Given the description of an element on the screen output the (x, y) to click on. 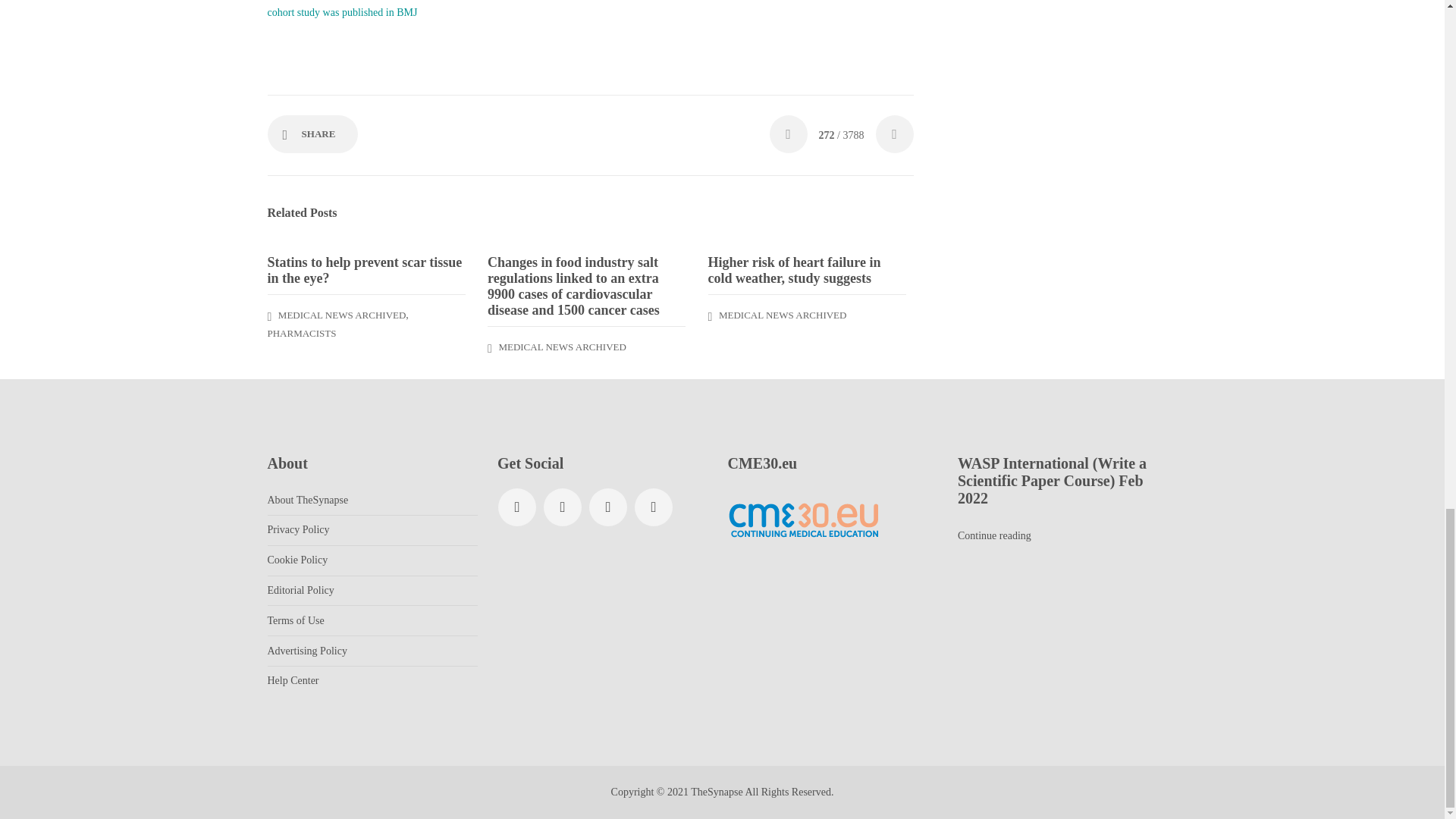
Statins to help prevent scar tissue in the eye? (365, 270)
